Given the description of an element on the screen output the (x, y) to click on. 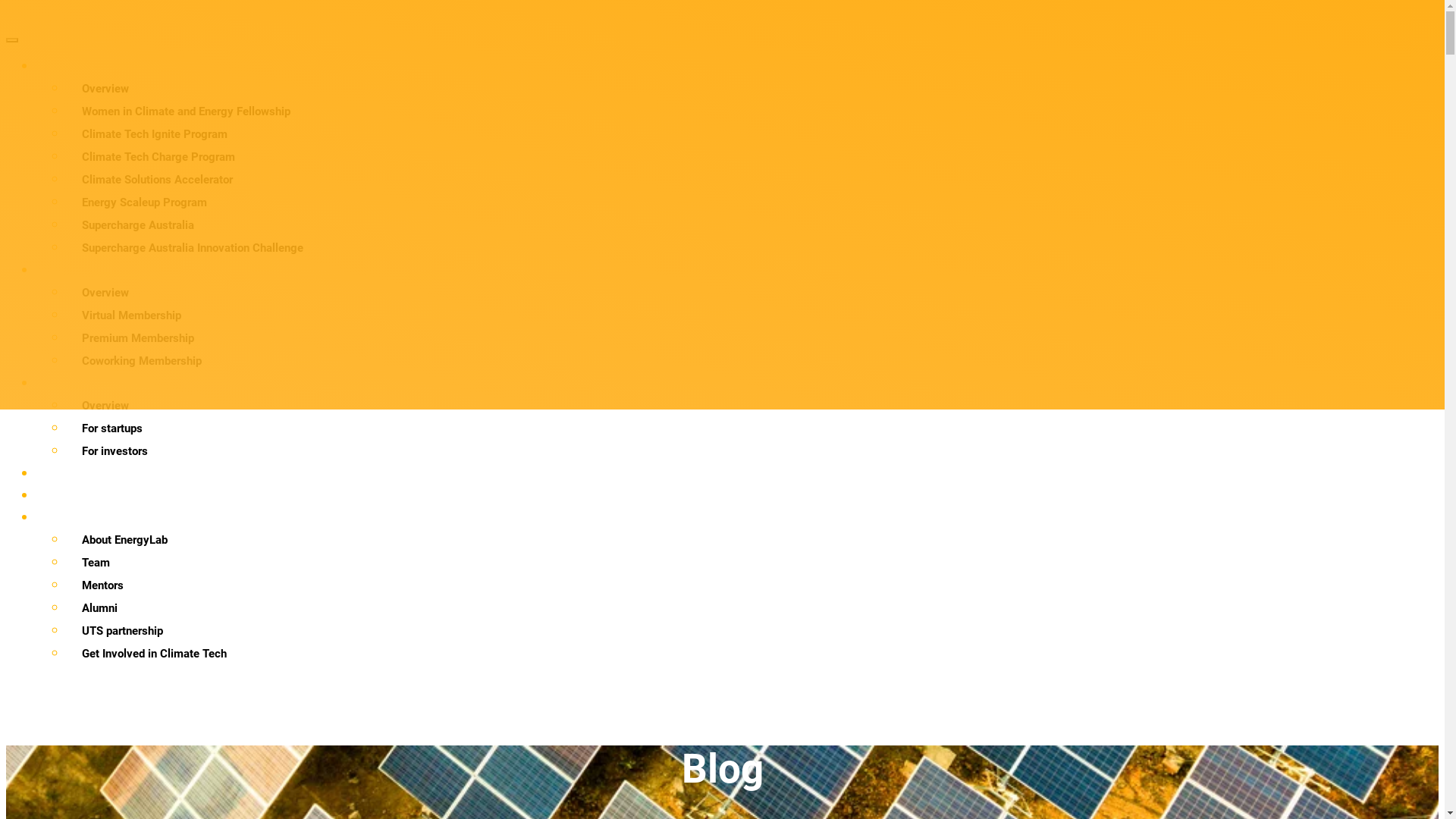
Sign up Element type: text (716, 710)
Log in Element type: text (716, 688)
Overview Element type: text (752, 88)
About us Element type: text (719, 517)
Alumni Element type: text (752, 607)
Virtual Membership Element type: text (752, 315)
Supercharge Australia Innovation Challenge Element type: text (752, 247)
Blog Element type: text (719, 495)
About EnergyLab Element type: text (752, 539)
Mentors Element type: text (752, 585)
Climate Tech Ignite Program Element type: text (752, 133)
Women in Climate and Energy Fellowship Element type: text (752, 111)
Supercharge Australia Element type: text (752, 224)
Overview Element type: text (752, 292)
UTS partnership Element type: text (752, 630)
Membership Element type: text (719, 270)
Overview Element type: text (752, 405)
For startups Element type: text (752, 428)
Climate Solutions Accelerator Element type: text (752, 179)
Premium Membership Element type: text (752, 337)
Get Involved in Climate Tech Element type: text (752, 653)
Energy Scaleup Program Element type: text (752, 202)
Events Element type: text (719, 473)
Coworking Membership Element type: text (752, 360)
Climate Tech Charge Program Element type: text (752, 156)
For investors Element type: text (752, 450)
Team Element type: text (752, 562)
Programs Element type: text (719, 66)
Angel group Element type: text (719, 383)
